Given the description of an element on the screen output the (x, y) to click on. 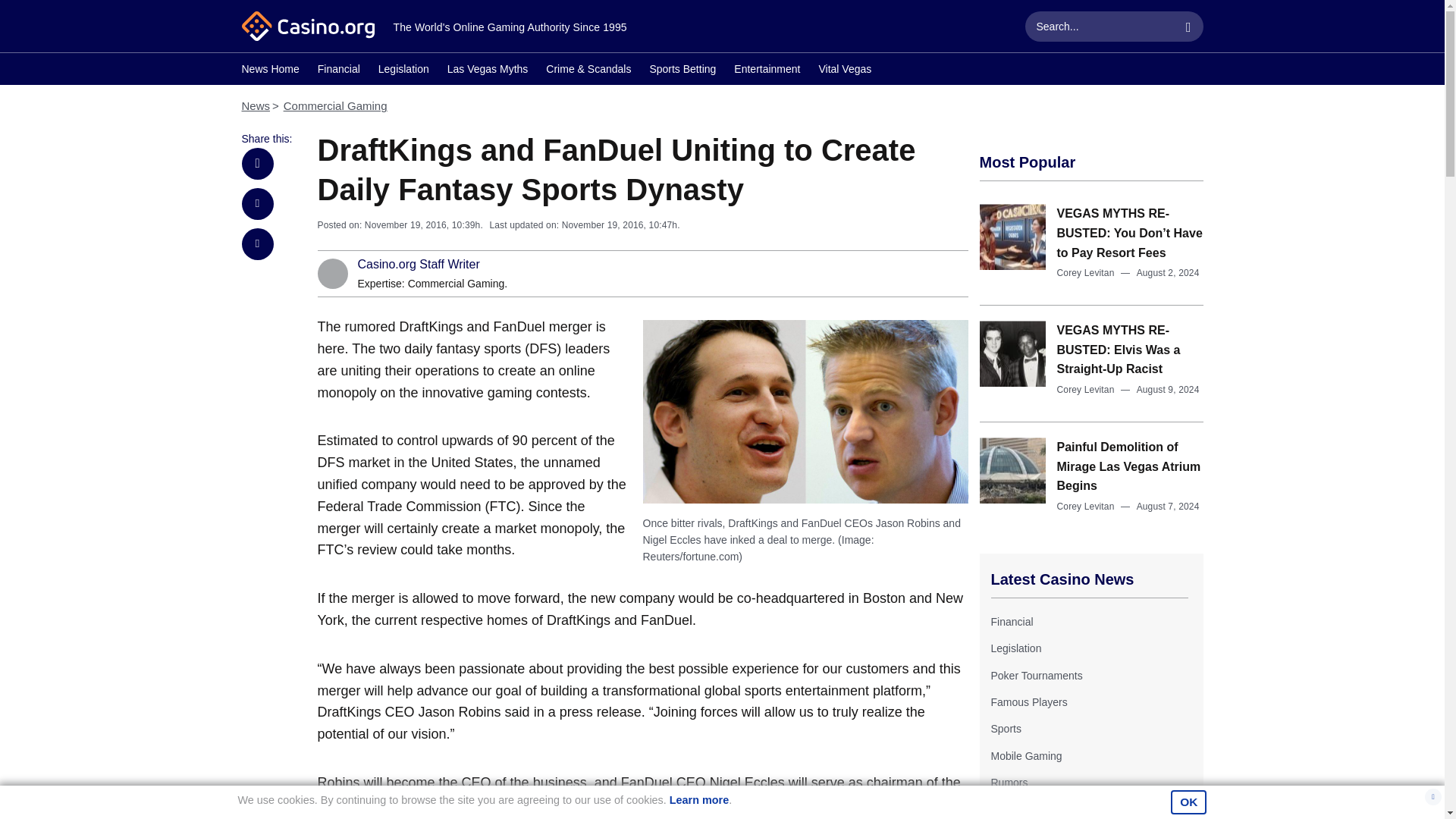
Corey Levitan (1086, 272)
Mobile Gaming (1025, 756)
Rumors (1008, 782)
VEGAS MYTHS RE-BUSTED: Elvis Was a Straight-Up Racist (1118, 349)
Commercial Gaming (335, 105)
Painful Demolition of Mirage Las Vegas Atrium Begins (1129, 466)
Casino.org Staff Writer (419, 264)
Entertainment (766, 70)
iGaming (1009, 809)
Legislation (1015, 648)
